Given the description of an element on the screen output the (x, y) to click on. 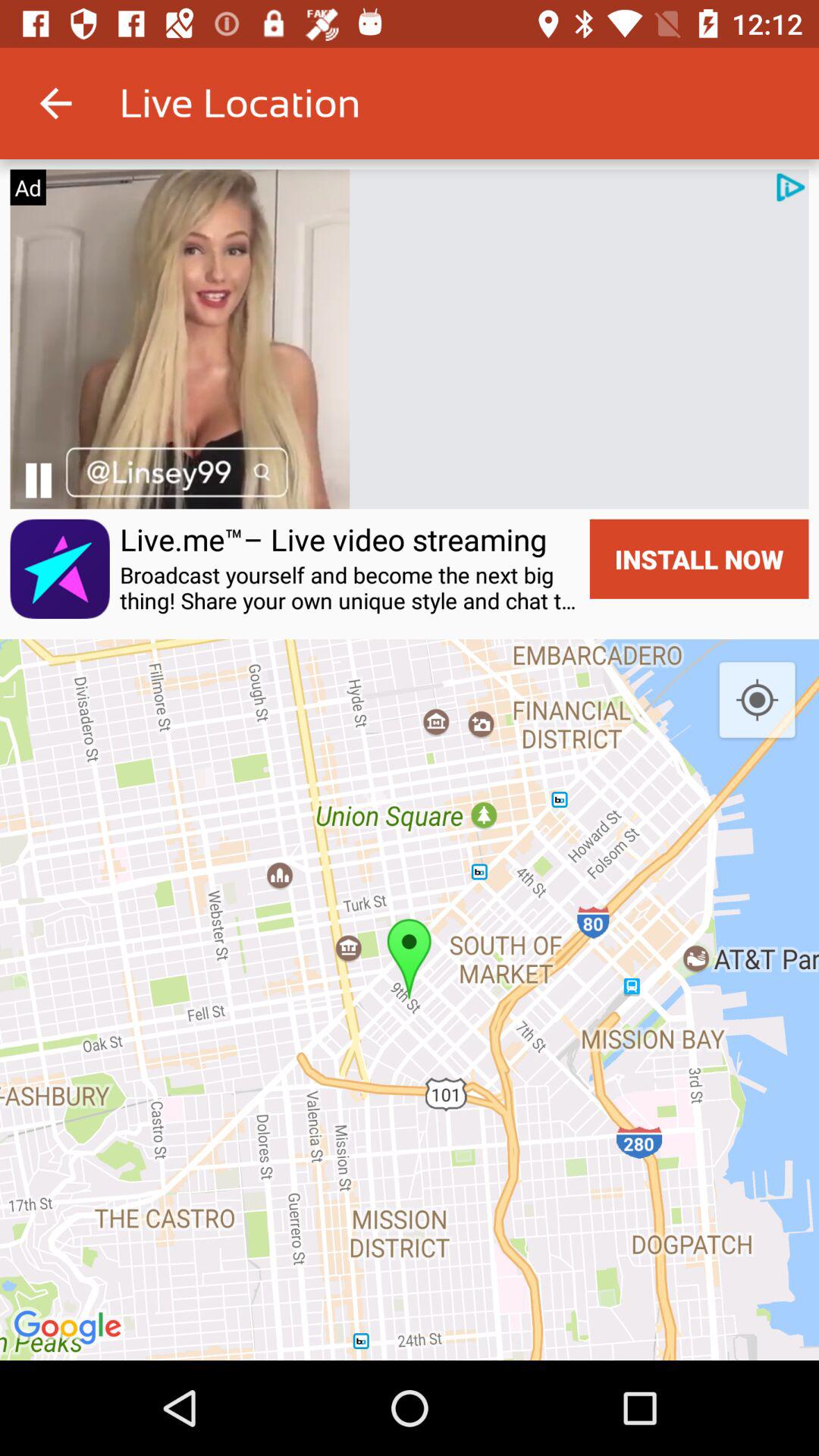
tap the live me live (333, 539)
